Given the description of an element on the screen output the (x, y) to click on. 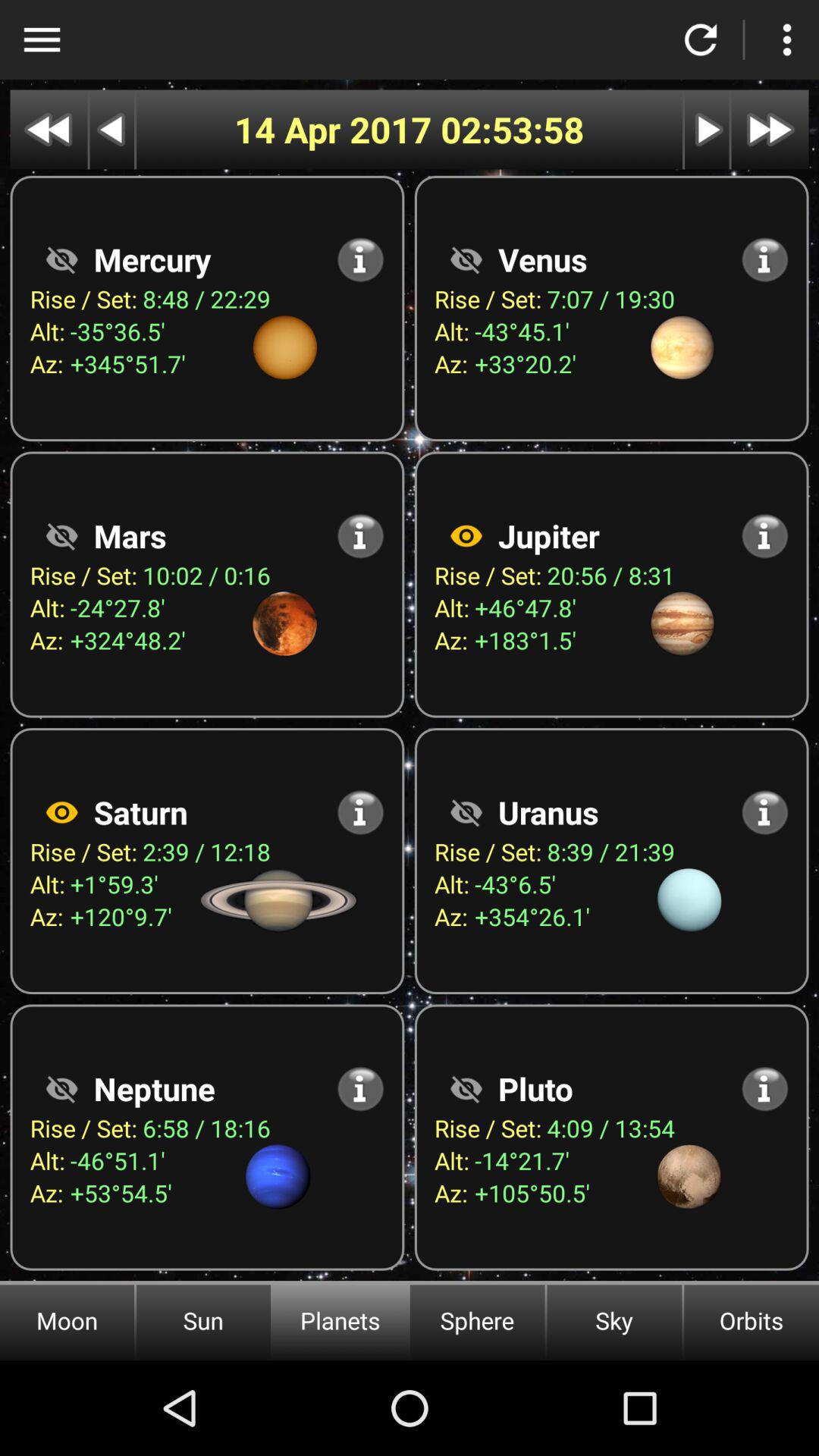
more information about mars (360, 536)
